Given the description of an element on the screen output the (x, y) to click on. 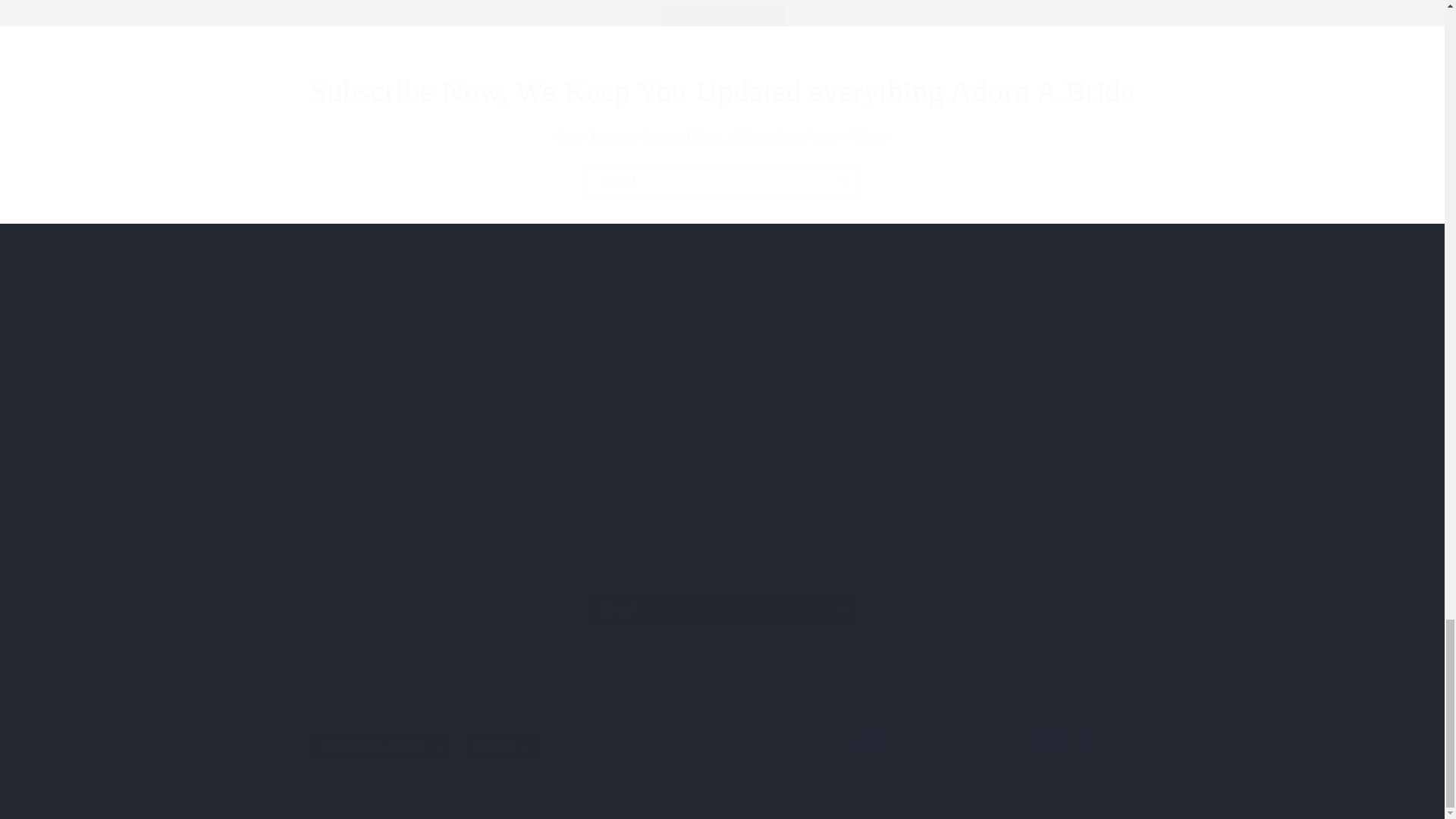
Subscribe Now, We Keep You Updated everything Adorn A Bride (721, 593)
Email (721, 91)
